Given the description of an element on the screen output the (x, y) to click on. 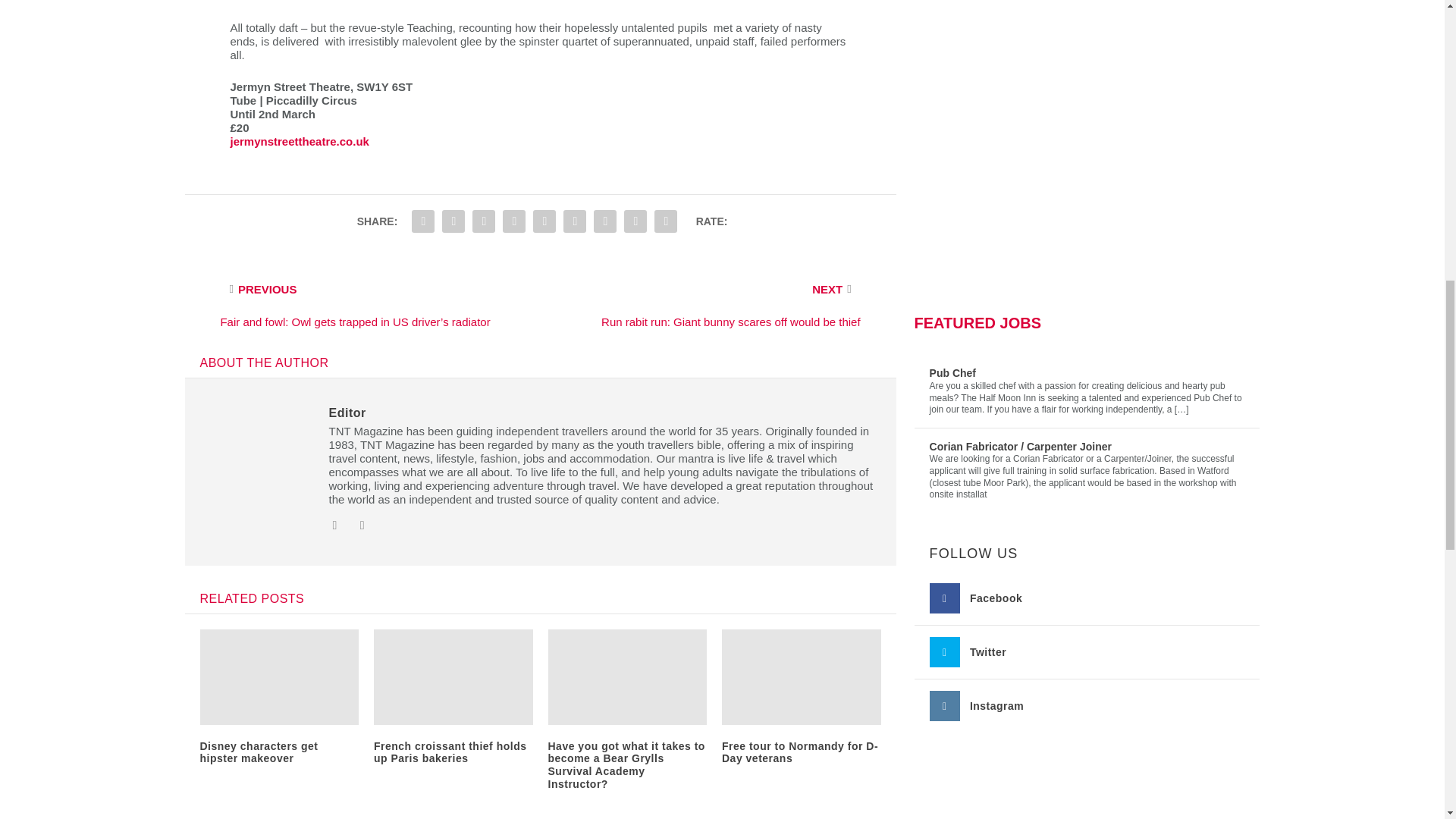
jermynstreettheatre.co.uk (299, 141)
Disney characters get hipster makeover (259, 752)
French croissant thief holds up Paris bakeries (449, 752)
Editor (347, 412)
